Given the description of an element on the screen output the (x, y) to click on. 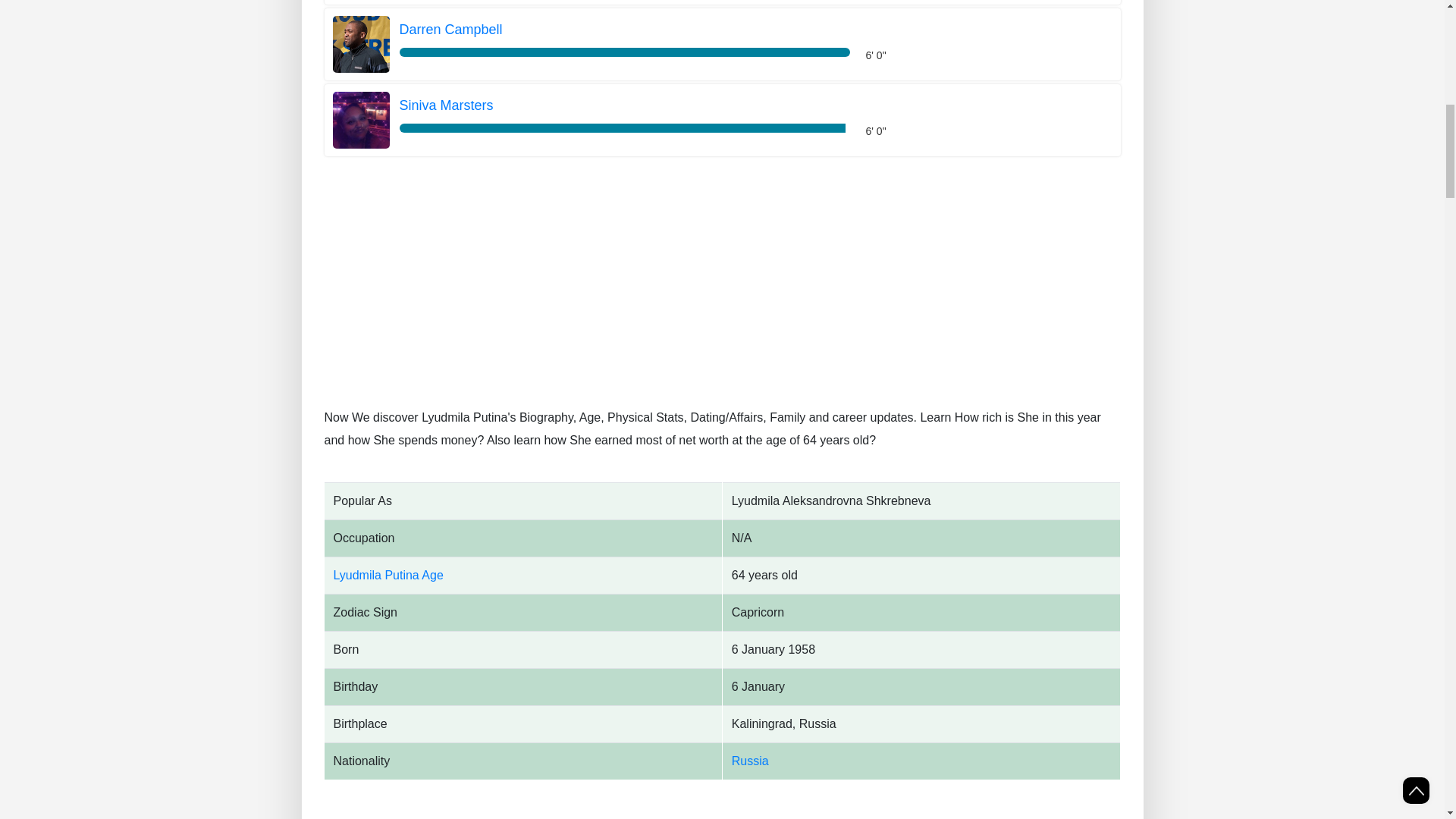
Siniva Marsters (623, 105)
Darren Campbell (623, 30)
Siniva Marsters Compare (623, 105)
Siniva Marsters Compare (359, 118)
Darren Campbell Compare (623, 30)
Russia (750, 760)
Lyudmila Putina Age (388, 574)
Darren Campbell Compare (359, 42)
